Given the description of an element on the screen output the (x, y) to click on. 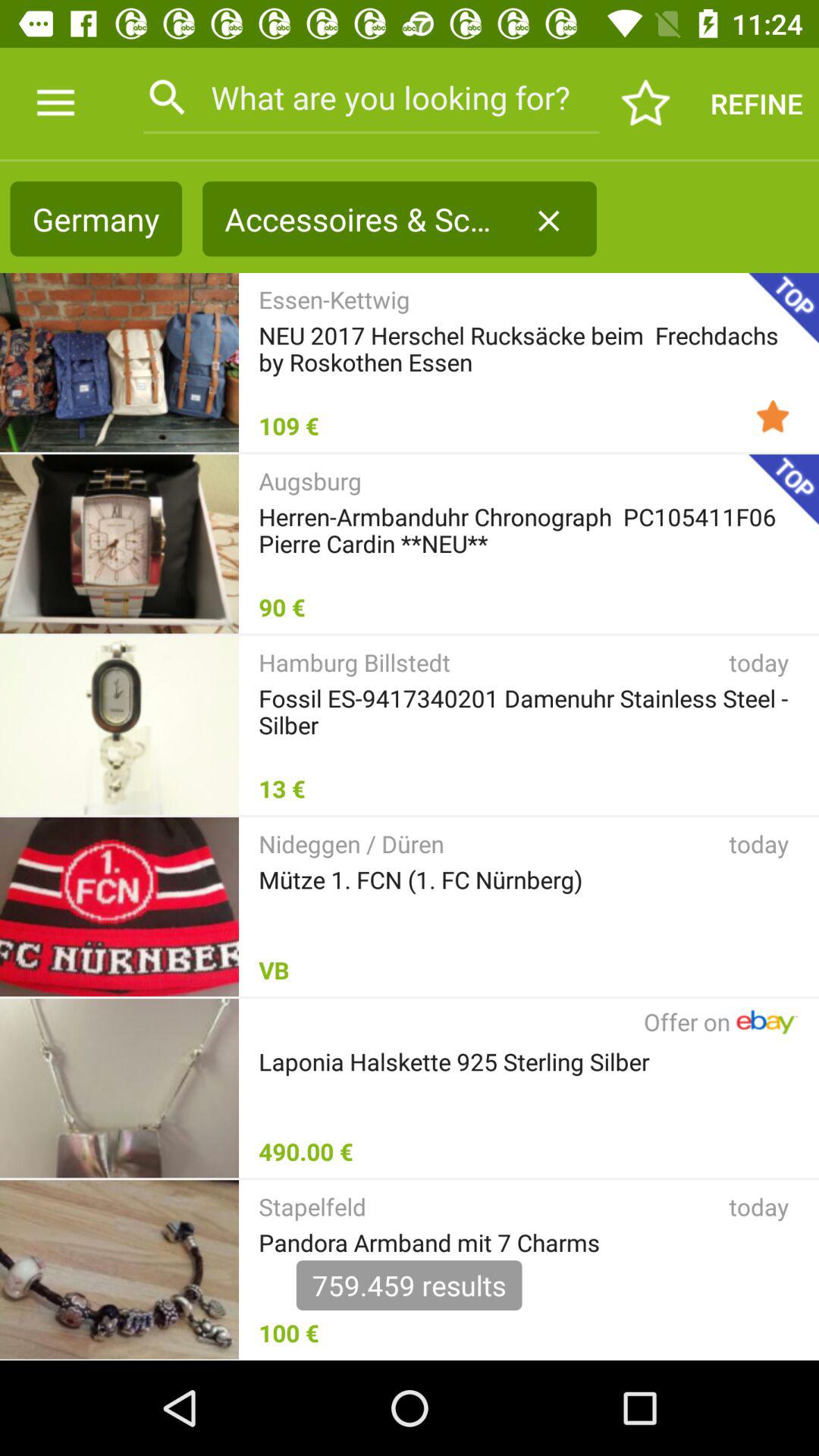
tap icon to the left of what are you item (55, 103)
